Given the description of an element on the screen output the (x, y) to click on. 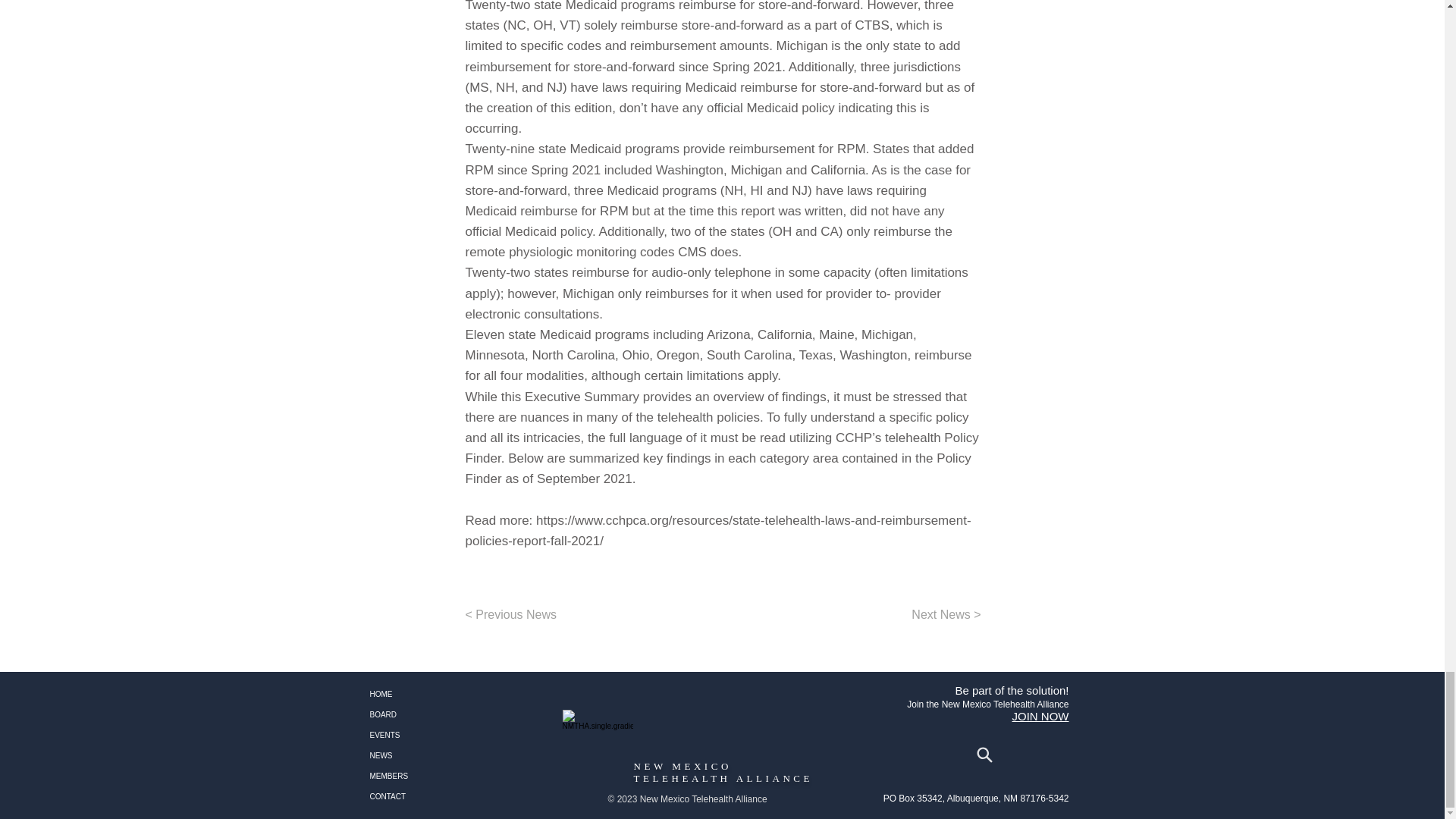
HOME (435, 693)
ALLIANCE (774, 778)
BOARD (435, 714)
NEW MEXICO TELEHEALTH  (684, 771)
JOIN NOW (1039, 716)
MEMBERS (435, 775)
NEWS (435, 755)
CONTACT (435, 796)
EVENTS (435, 734)
